Given the description of an element on the screen output the (x, y) to click on. 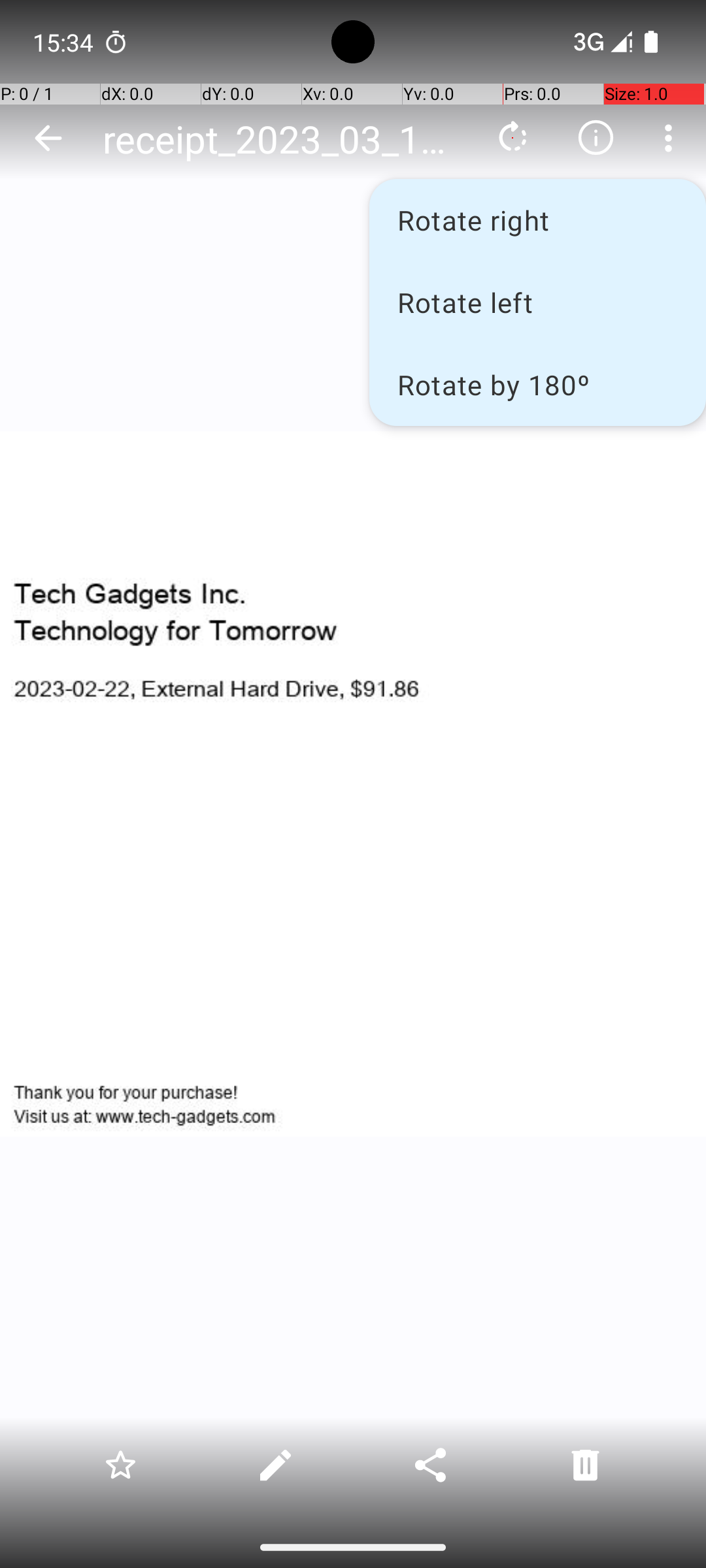
Rotate right Element type: android.widget.TextView (537, 219)
Rotate left Element type: android.widget.TextView (537, 301)
Rotate by 180º Element type: android.widget.TextView (537, 384)
